Given the description of an element on the screen output the (x, y) to click on. 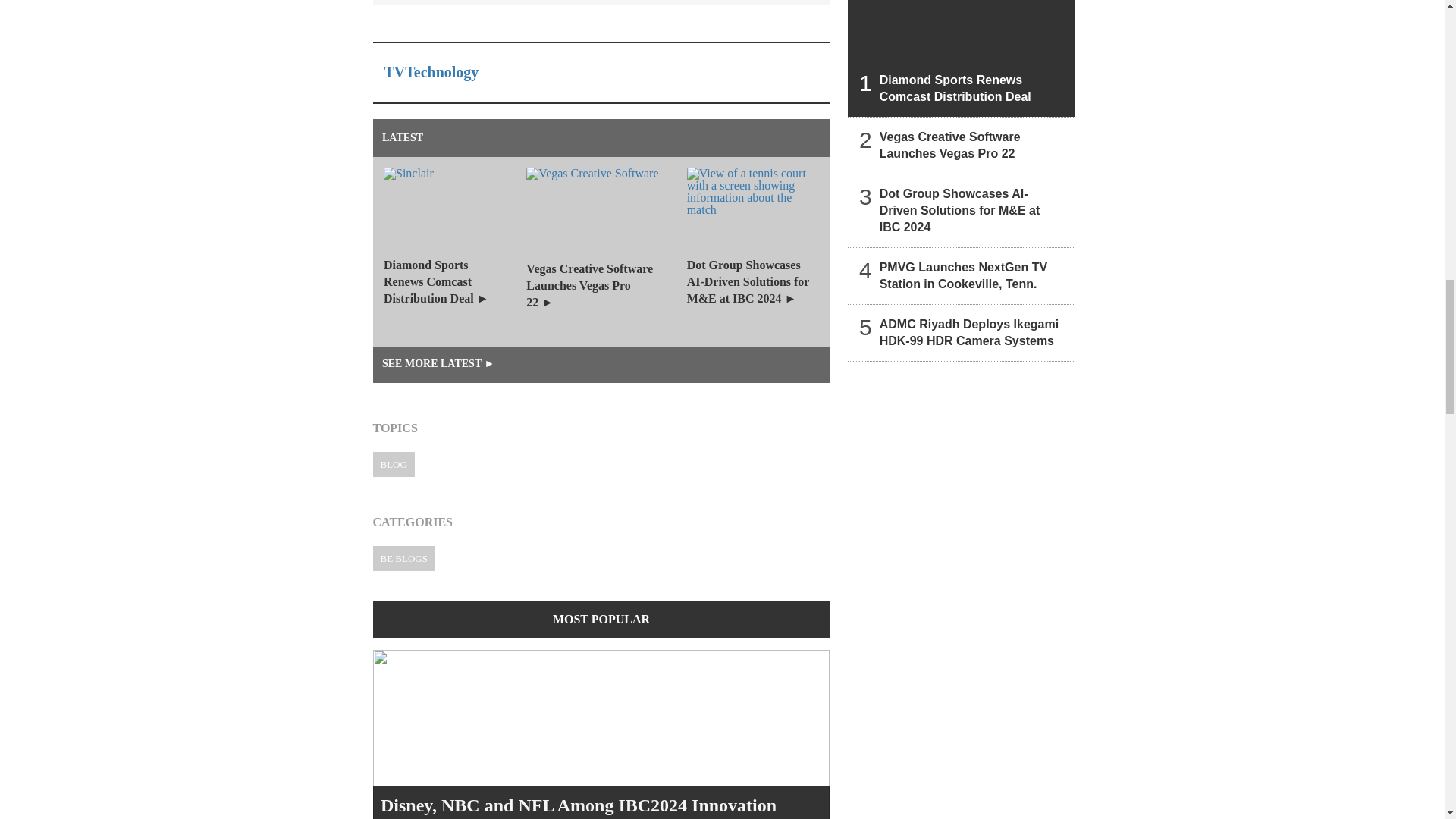
BE BLOGS (403, 558)
TVTechnology (431, 71)
BLOG (393, 464)
Diamond Sports Renews Comcast Distribution Deal (961, 58)
